Given the description of an element on the screen output the (x, y) to click on. 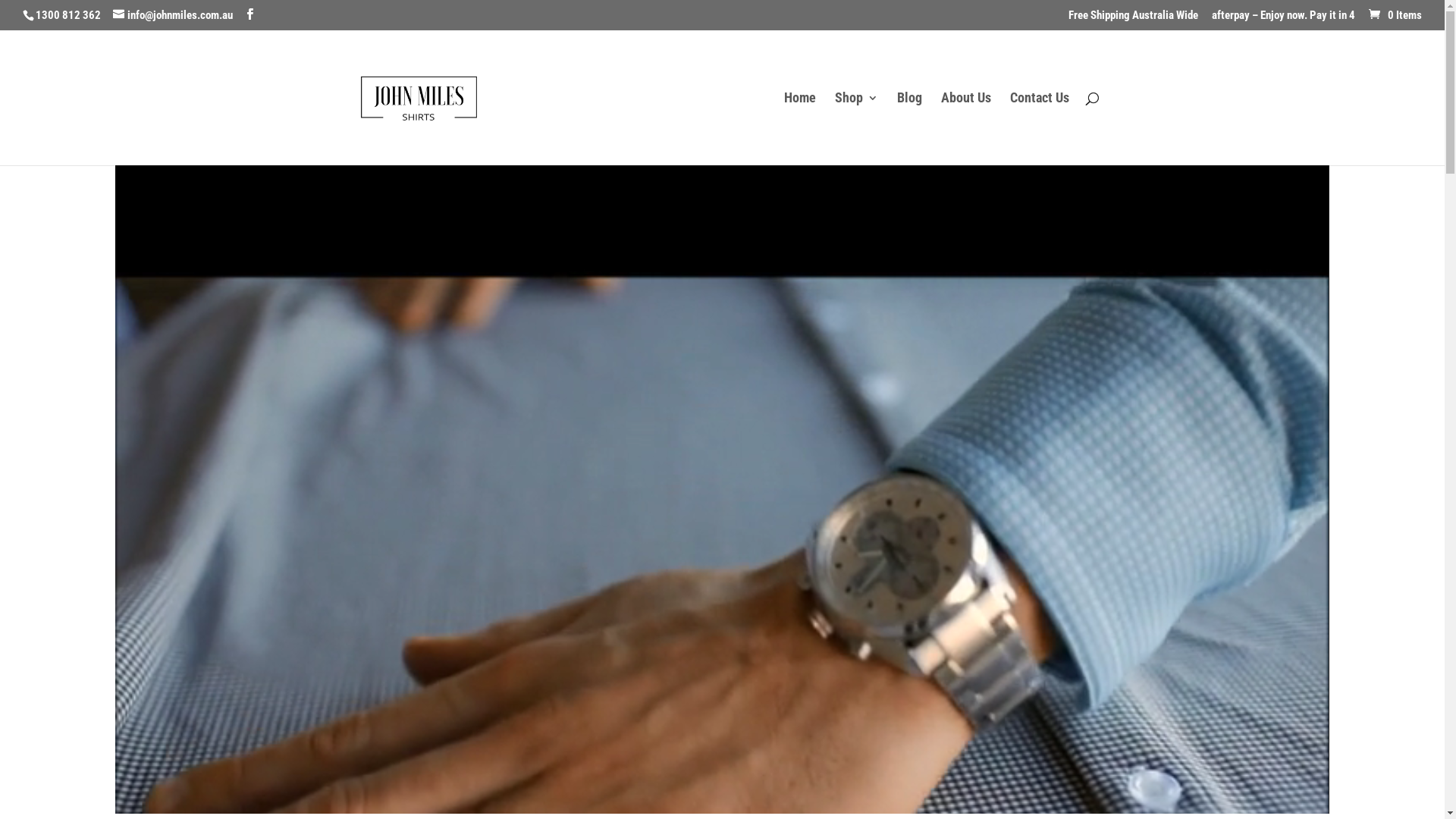
Free Shipping Australia Wide Element type: text (1133, 19)
0 Items Element type: text (1393, 14)
About Us Element type: text (966, 128)
Blog Element type: text (909, 128)
Contact Us Element type: text (1039, 128)
Shop Element type: text (856, 128)
info@johnmiles.com.au Element type: text (172, 14)
Home Element type: text (799, 128)
